Given the description of an element on the screen output the (x, y) to click on. 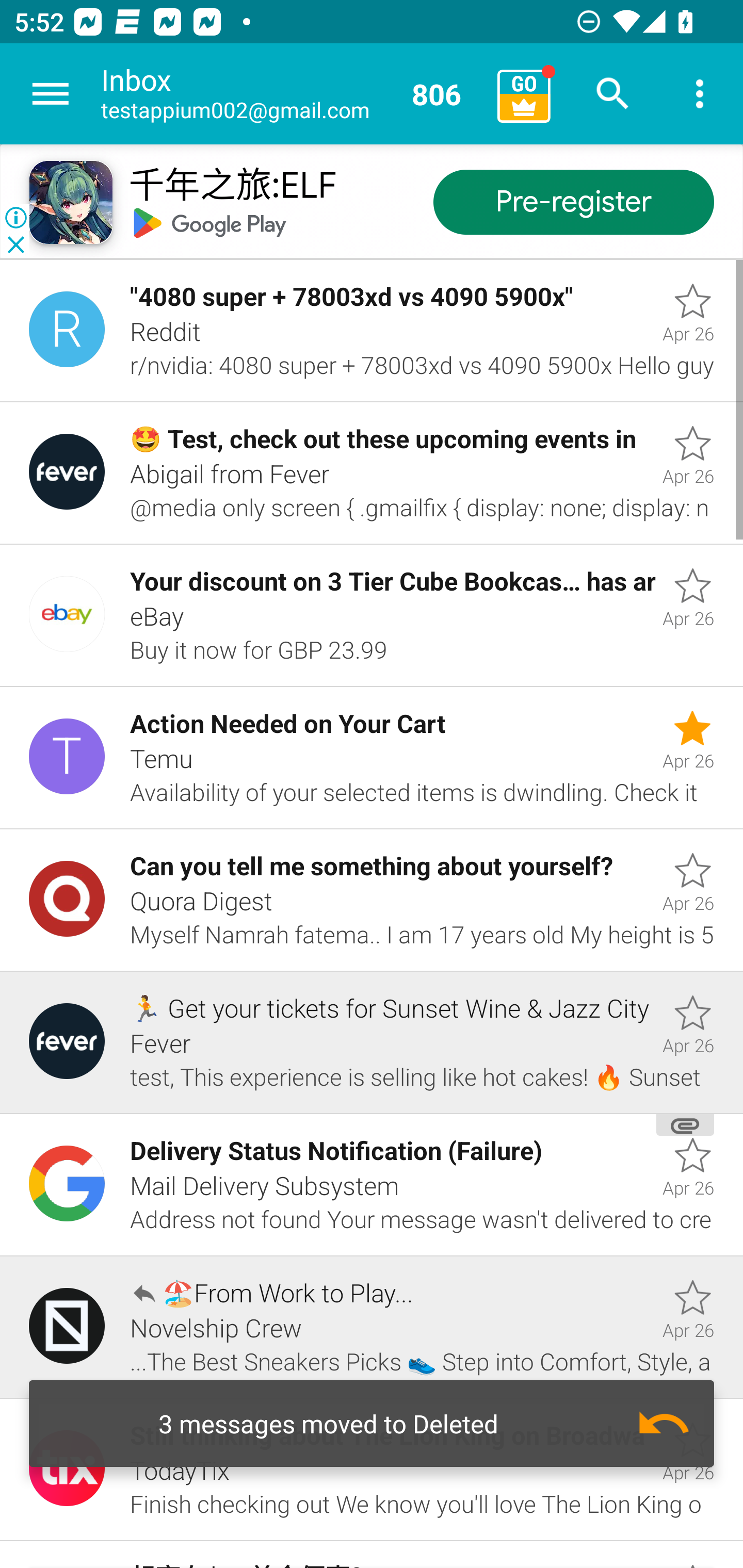
Navigate up (50, 93)
Inbox testappium002@gmail.com 806 (291, 93)
Search (612, 93)
More options (699, 93)
千年之旅:ELF (232, 186)
Pre-register (573, 202)
Undo 3 messages moved to Deleted (371, 1423)
